Given the description of an element on the screen output the (x, y) to click on. 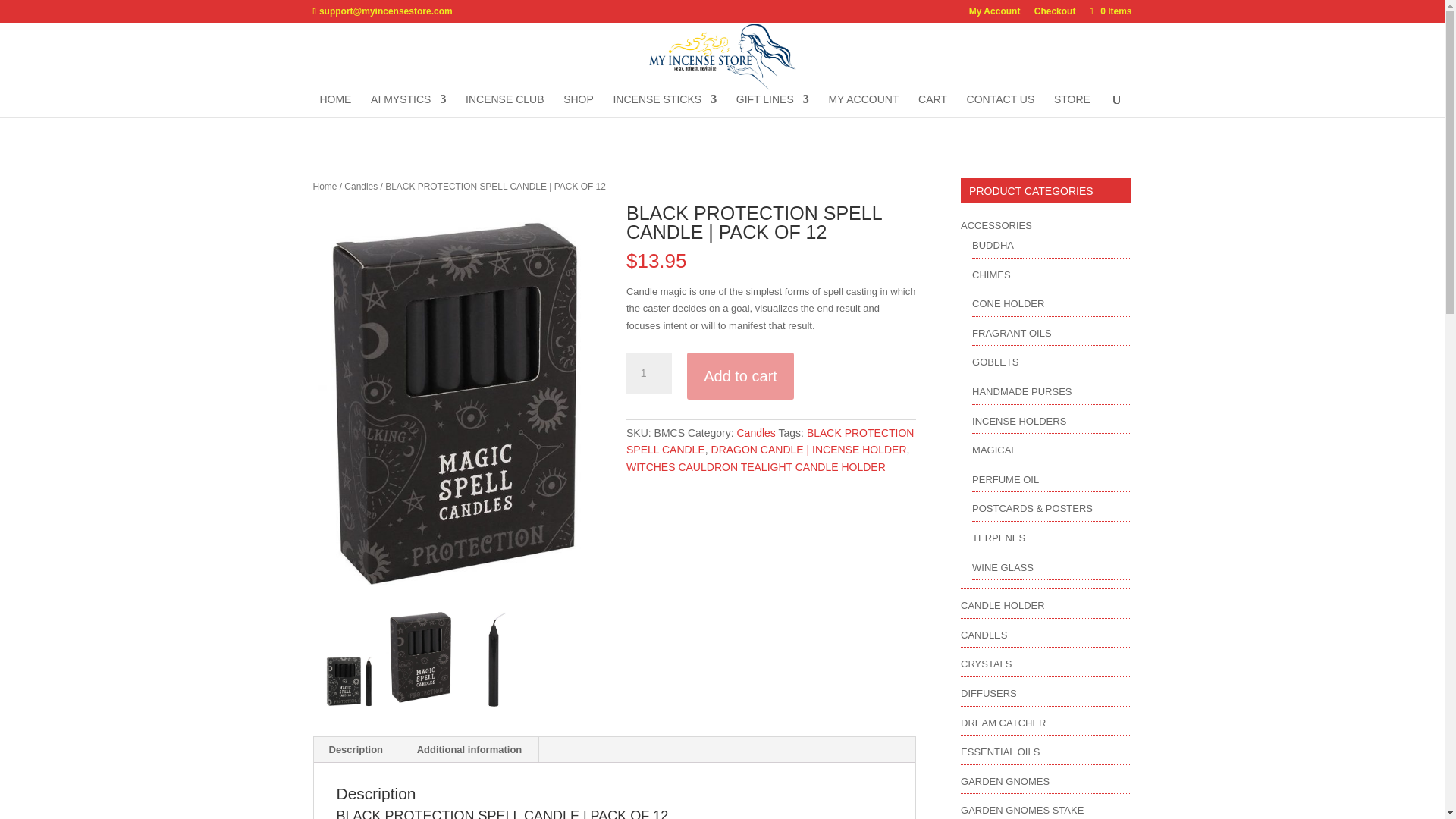
BLACK PROTECTION SPELL CANDLE (348, 681)
AI MYSTICS (408, 105)
INCENSE STICKS (664, 105)
1 (648, 373)
CONTACT US (1000, 105)
Checkout (1054, 14)
CART (932, 105)
0 Items (1108, 10)
My Account (994, 14)
INCENSE CLUB (504, 105)
STORE (1072, 105)
Home (324, 185)
HOME (334, 105)
Candles (360, 185)
MY ACCOUNT (863, 105)
